Given the description of an element on the screen output the (x, y) to click on. 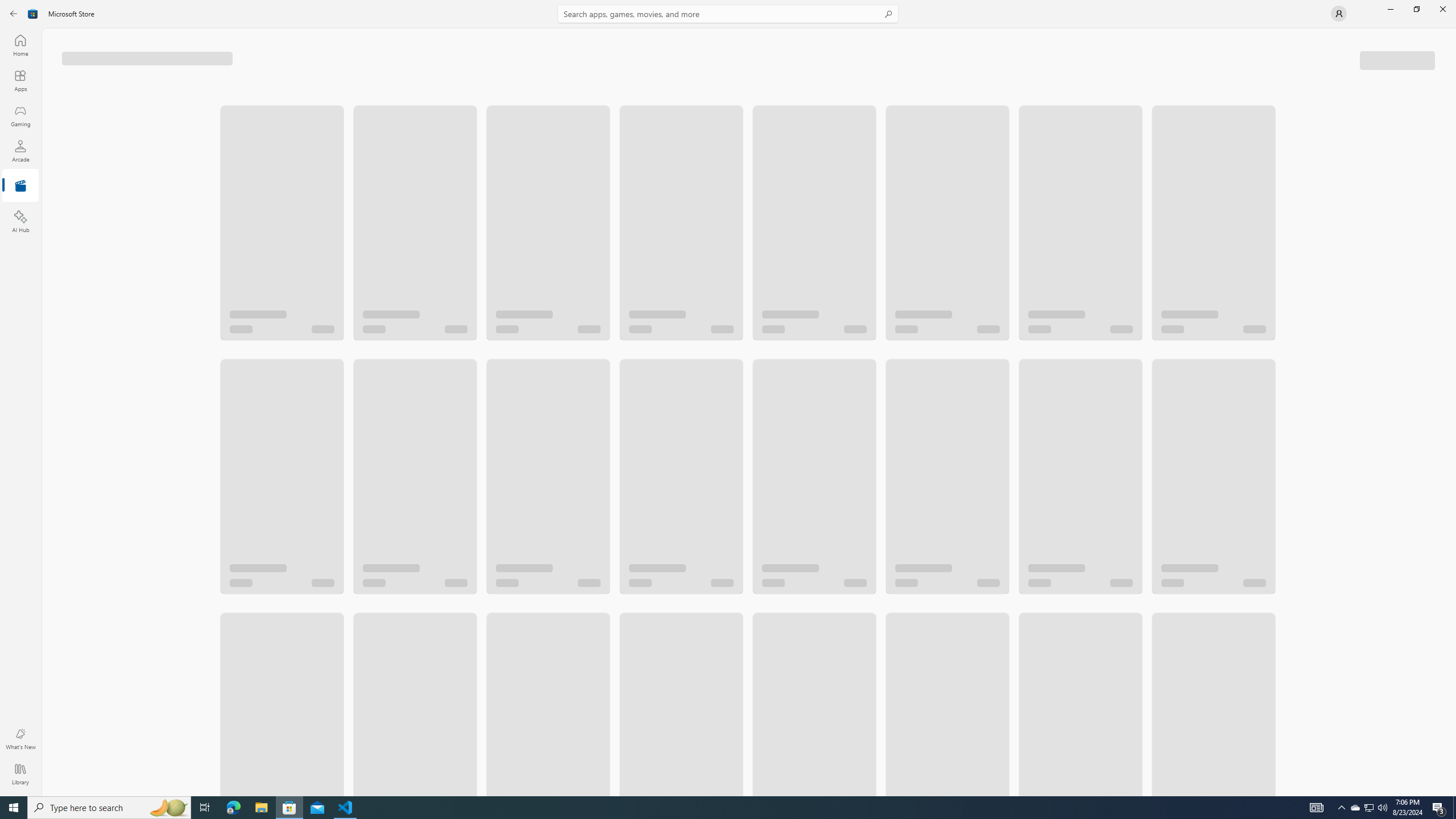
Jurassic World Ultimate Collection (1-6). Starts at $56.99   (414, 211)
Filters (1397, 59)
Minimize Microsoft Store (1390, 9)
Back (13, 13)
What's New (20, 738)
Library (20, 773)
Close Microsoft Store (1442, 9)
Fly Me To The Moon. Starts at $19.99   (281, 444)
Arcade (20, 150)
AutomationID: NavigationControl (728, 398)
AI Hub (20, 221)
User profile (1338, 13)
Search (727, 13)
